Given the description of an element on the screen output the (x, y) to click on. 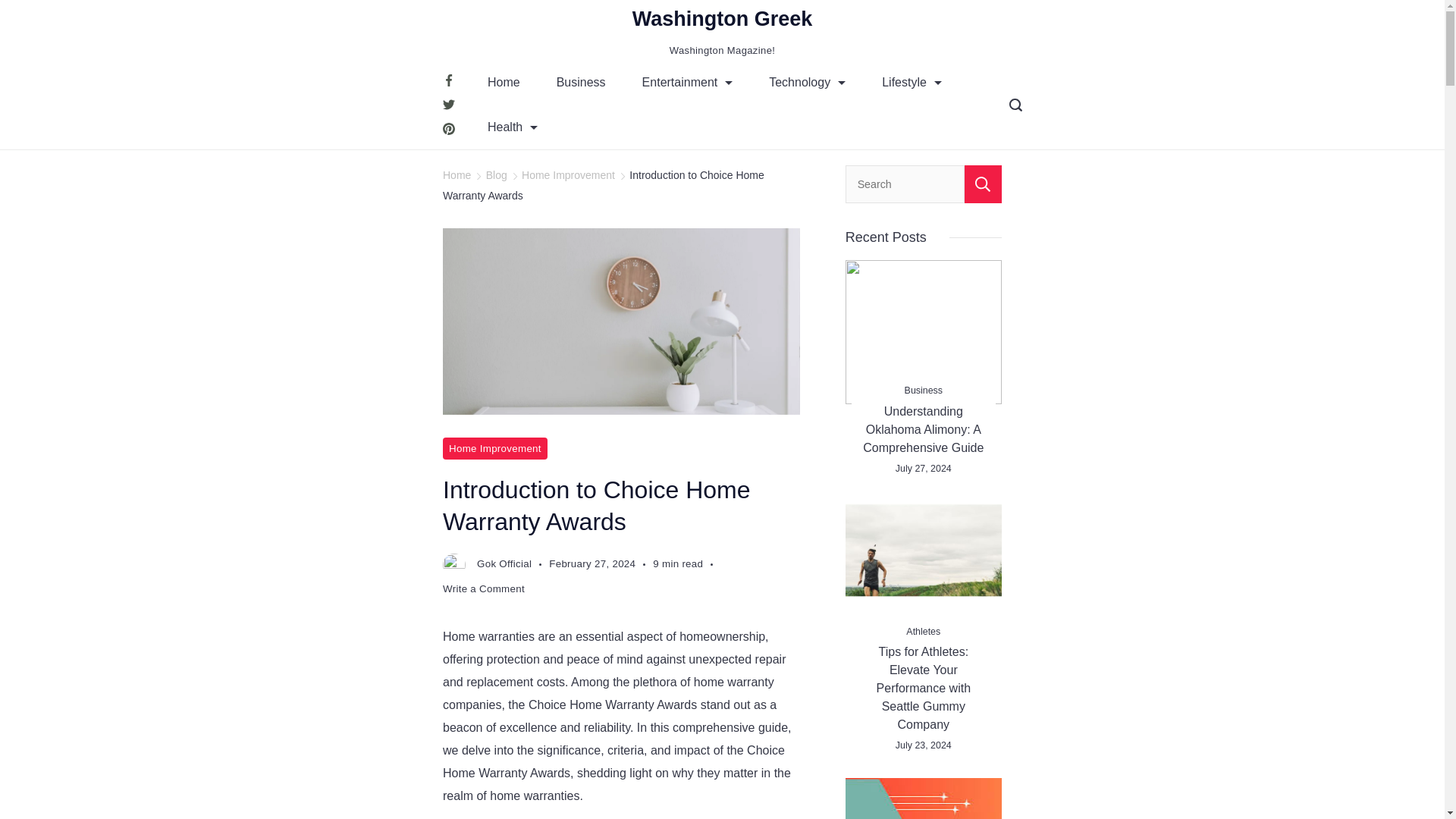
Home (503, 81)
Washington Greek (721, 18)
Technology (807, 81)
Health (512, 126)
Business (581, 81)
Lifestyle (911, 81)
Entertainment (687, 81)
